Given the description of an element on the screen output the (x, y) to click on. 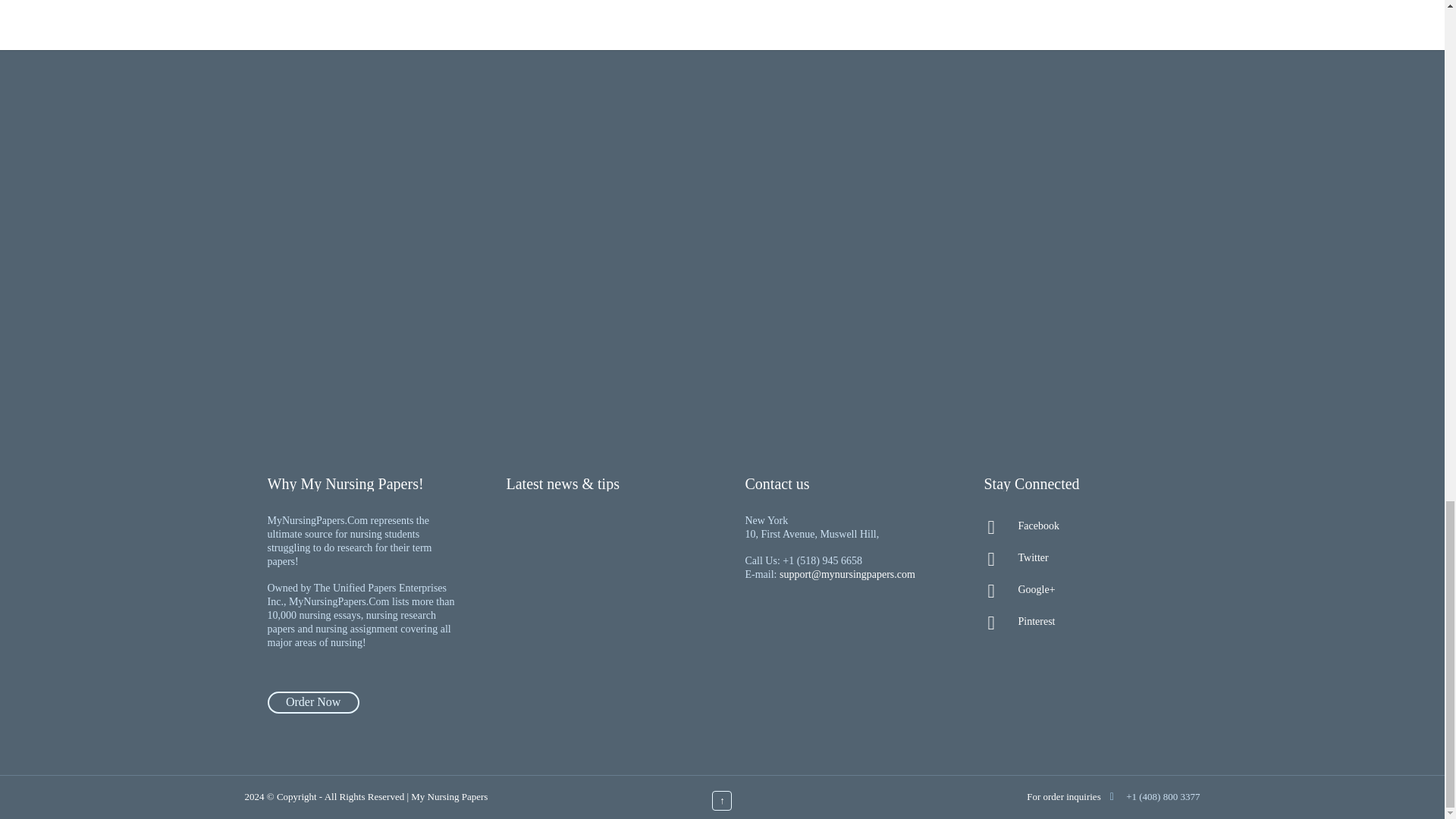
Twitter (1080, 558)
Pinterest (1080, 621)
Facebook (1080, 526)
